Given the description of an element on the screen output the (x, y) to click on. 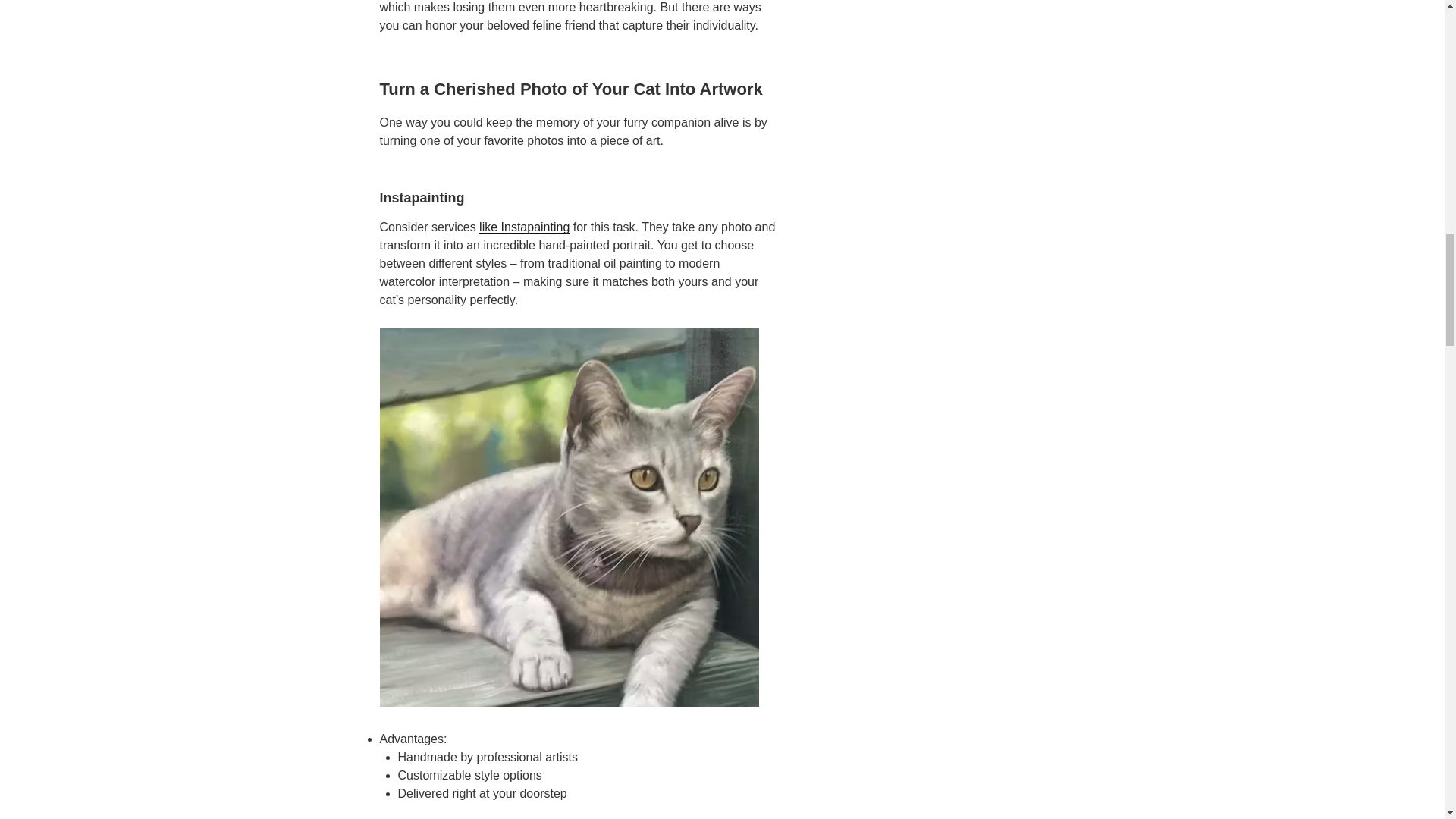
like Instapainting (524, 226)
